Given the description of an element on the screen output the (x, y) to click on. 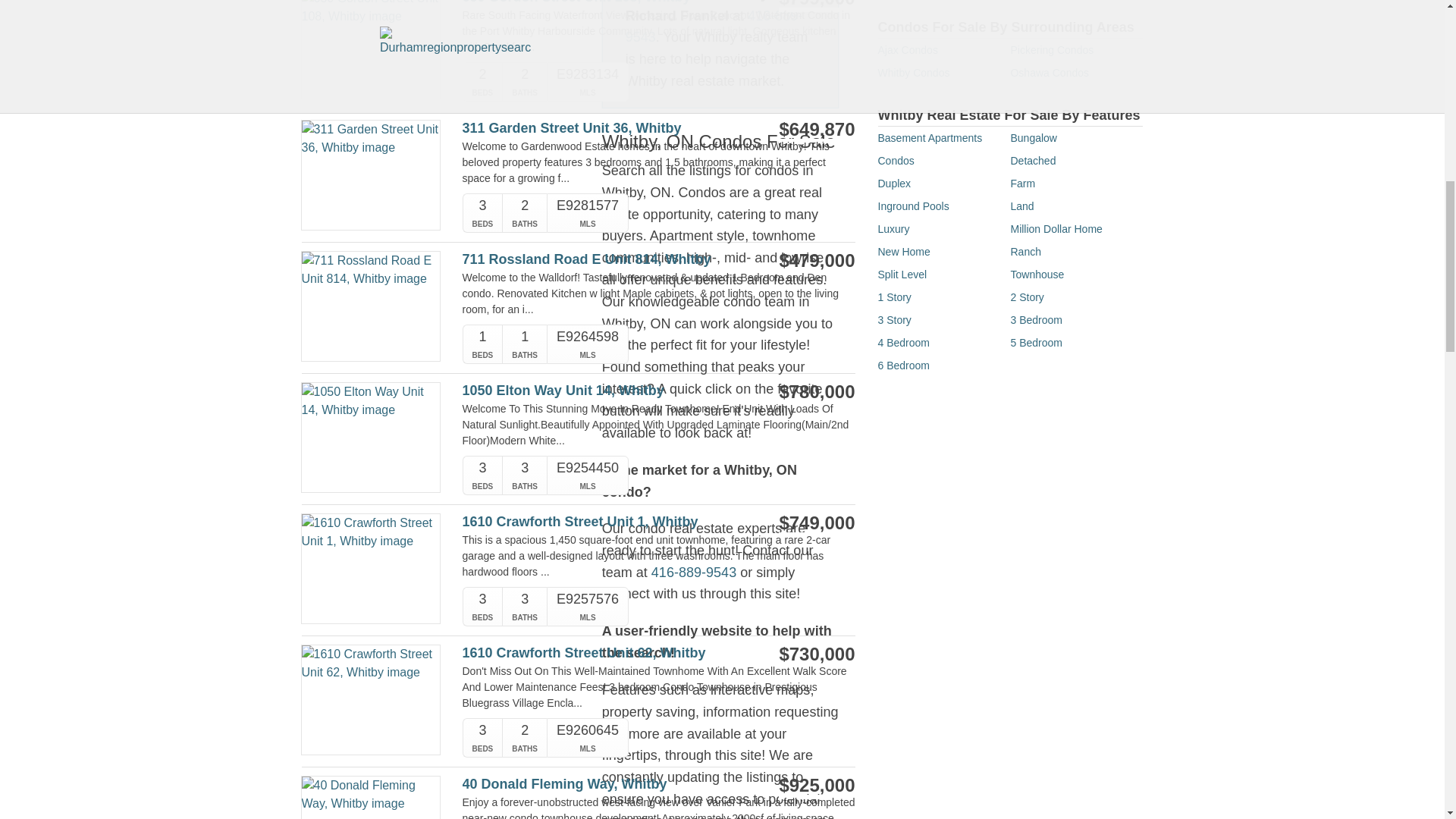
1610 Crawforth Street Unit 62, Whitby (600, 652)
416-889-9543 (714, 26)
711 Rossland Road E Unit 814, Whitby (600, 259)
650 Gordon Street Unit 108, Whitby (600, 2)
1050 Elton Way Unit 14, Whitby (600, 390)
1610 Crawforth Street Unit 1, Whitby (600, 521)
311 Garden Street Unit 36, Whitby (600, 128)
416-889-9543 (693, 572)
